Given the description of an element on the screen output the (x, y) to click on. 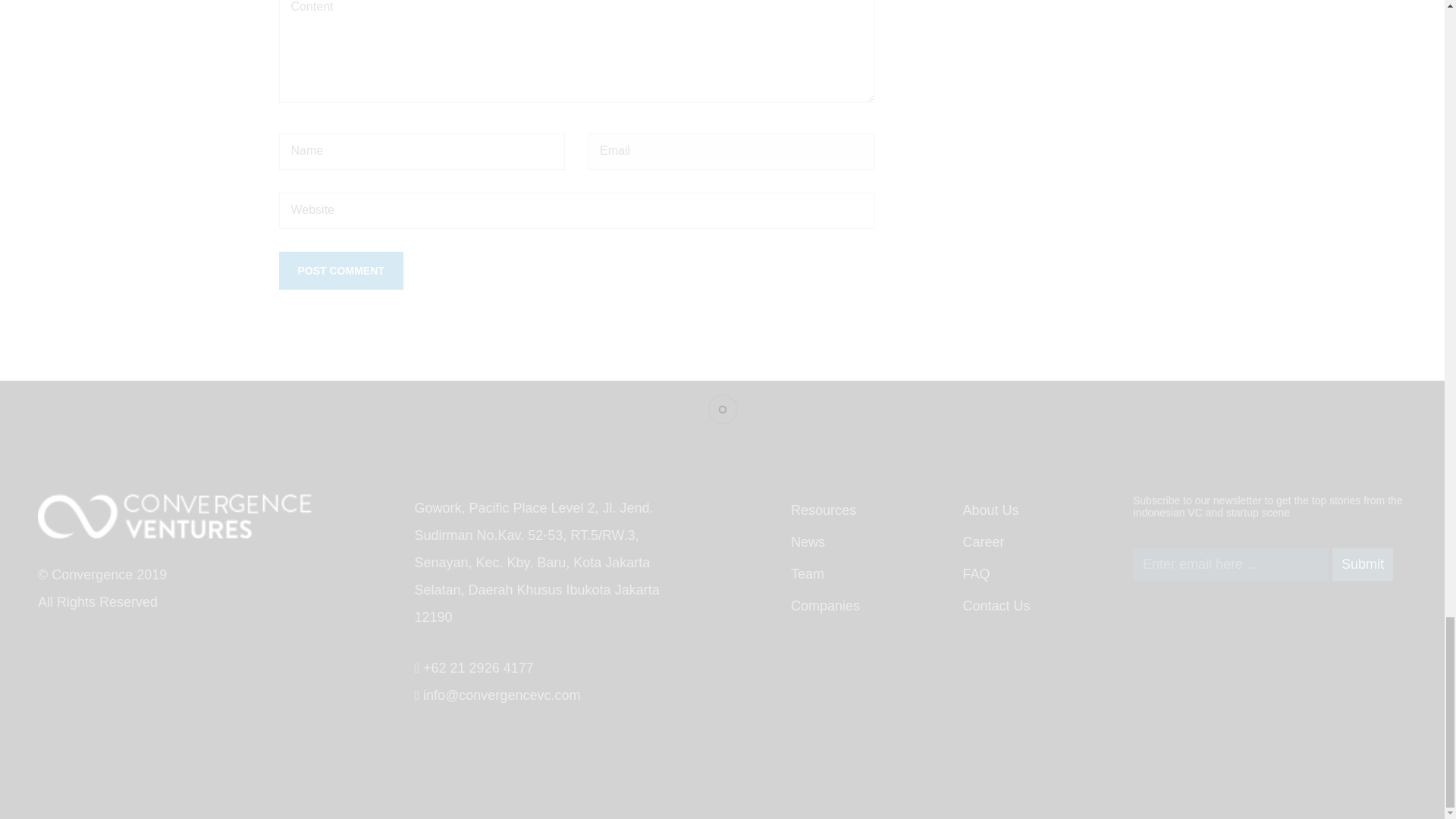
Post Comment (341, 270)
Submit (1362, 563)
Post Comment (341, 270)
